Given the description of an element on the screen output the (x, y) to click on. 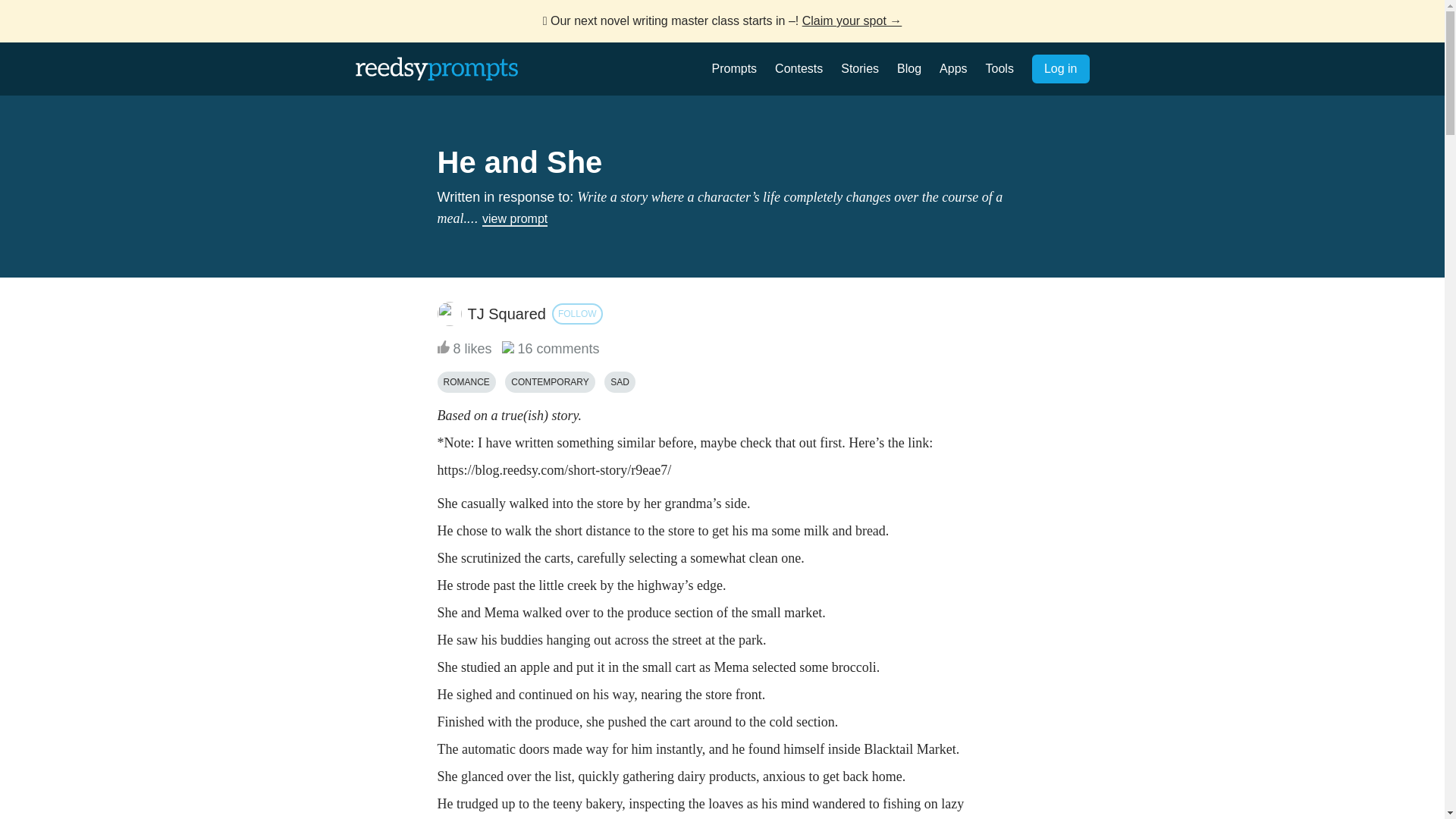
Blog (908, 68)
Tools (999, 68)
Contests (798, 68)
Stories (860, 68)
Log in (1060, 68)
Apps (952, 68)
Prompts (734, 68)
16 comments (550, 348)
